Given the description of an element on the screen output the (x, y) to click on. 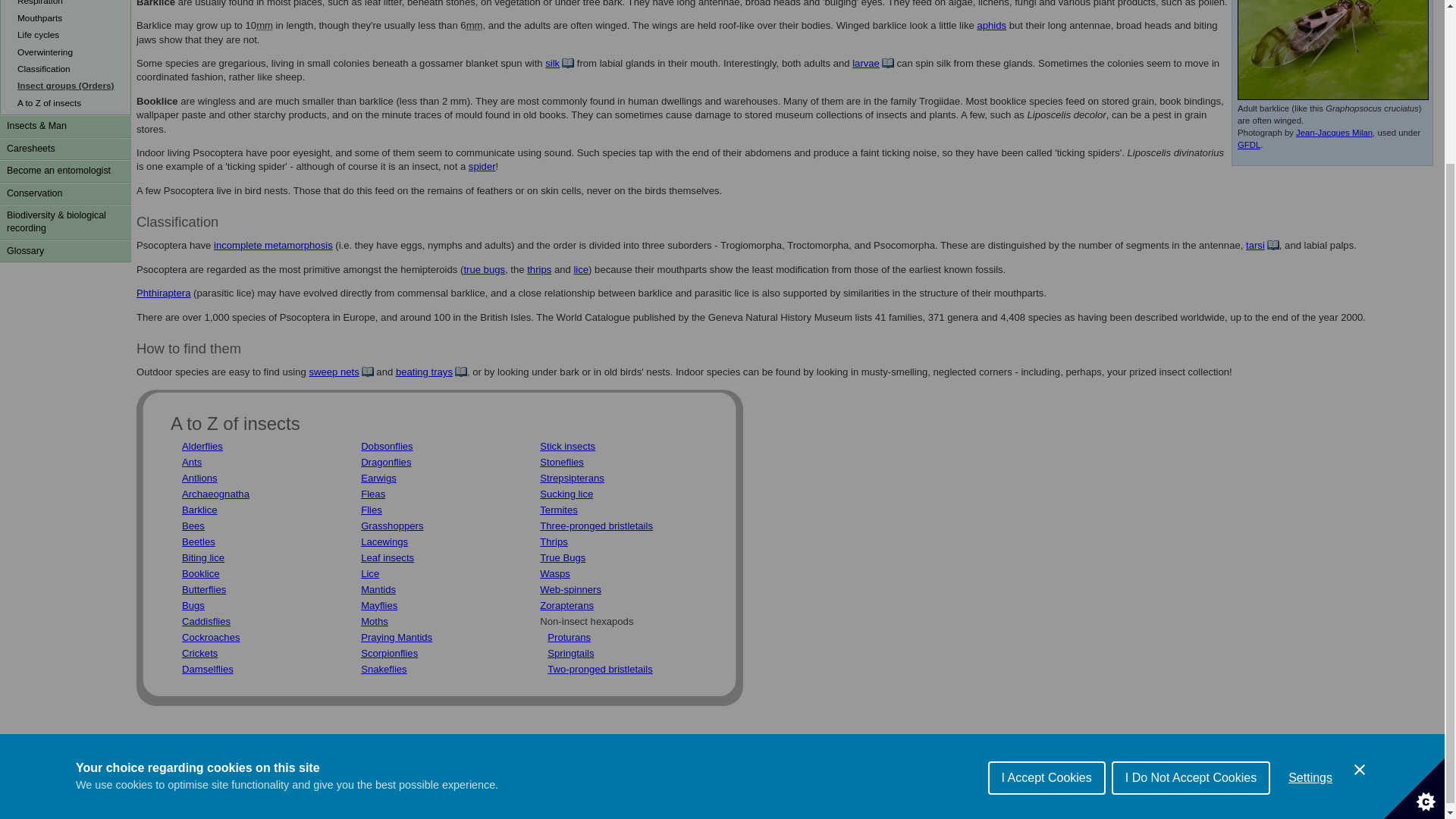
Life cycles (66, 33)
Glossary (65, 251)
Settings (1309, 632)
Become an entomologist (65, 170)
Conservation (65, 193)
Look up 'beating tray' in the Entomologists' Glossary (431, 371)
Look up 'tarsus' in the Entomologists' Glossary (1262, 244)
Caresheets (65, 148)
Respiration (66, 3)
Look up 'larva' in the Entomologists' Glossary (872, 62)
GNU Free Documentation License (1248, 144)
Look up 'sweep net' in the Entomologists' Glossary (340, 371)
A to Z of insects (66, 101)
Mouthparts (66, 16)
millimetre (474, 25)
